Given the description of an element on the screen output the (x, y) to click on. 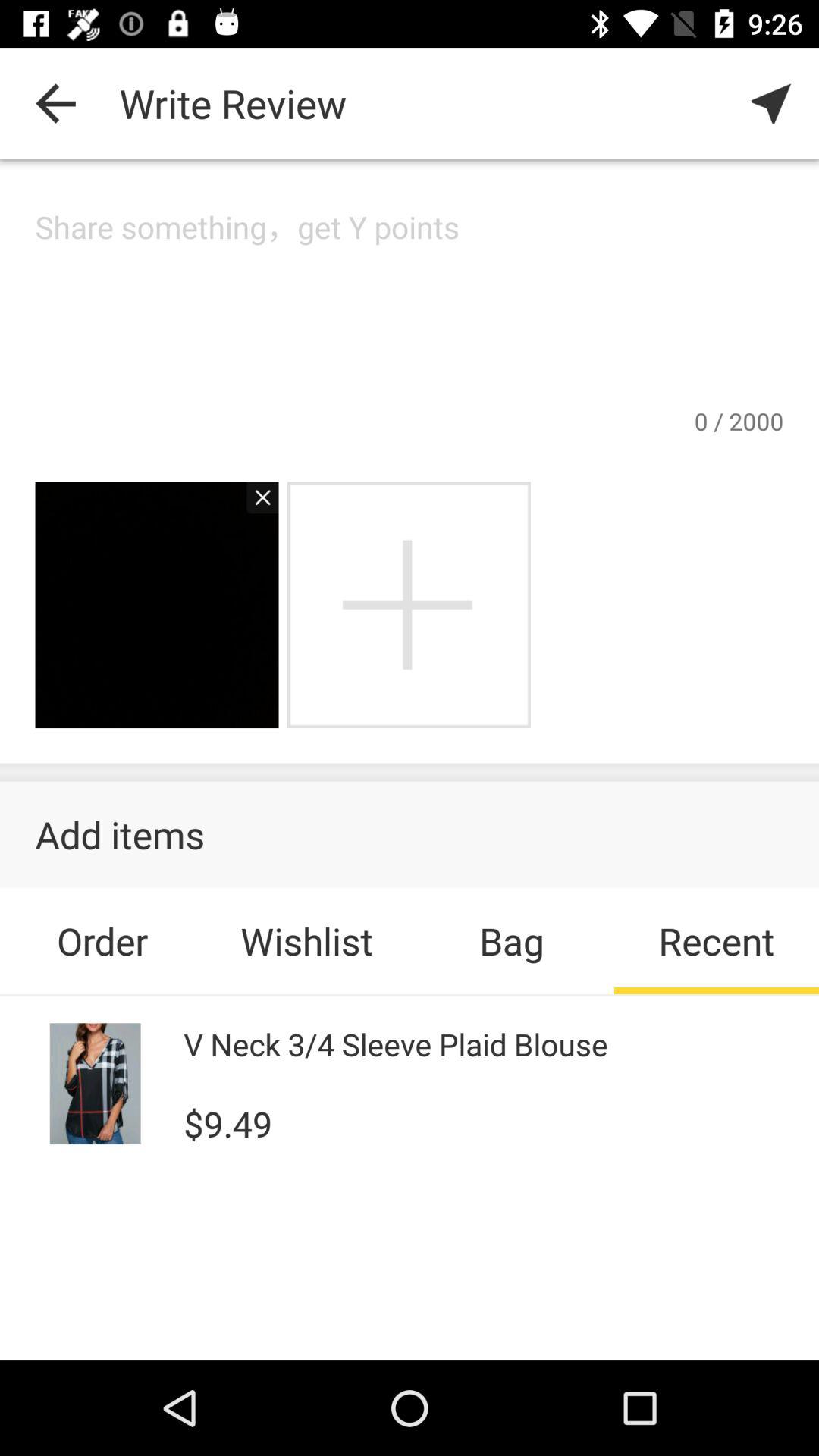
press the v neck 3 (395, 1043)
